Given the description of an element on the screen output the (x, y) to click on. 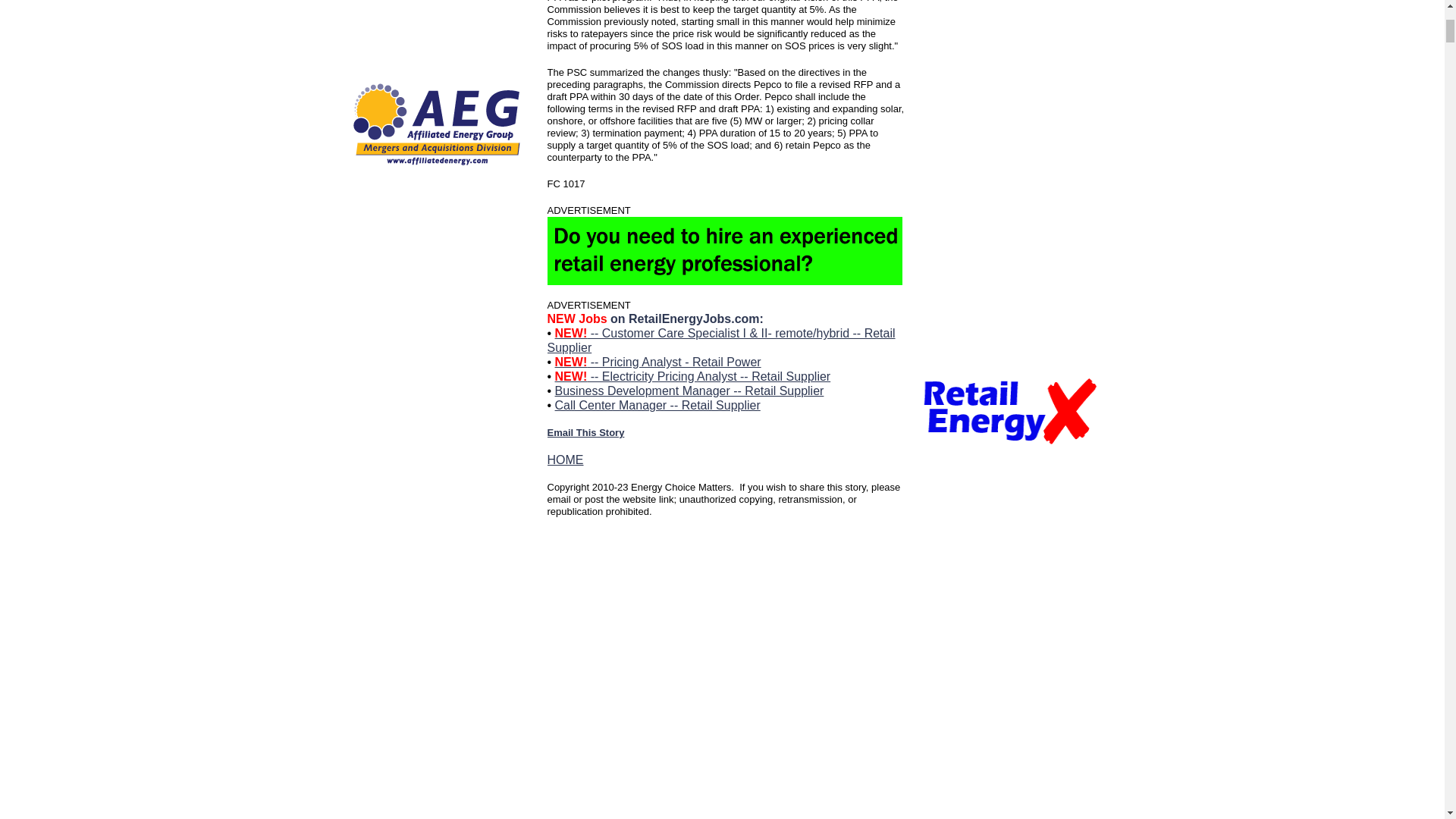
NEW! -- Electricity Pricing Analyst -- Retail Supplier (692, 376)
NEW! -- Pricing Analyst - Retail Power (657, 361)
NEW Jobs on RetailEnergyJobs.com: (654, 318)
Call Center Manager -- Retail Supplier (657, 404)
HOME (565, 459)
Business Development Manager -- Retail Supplier (689, 390)
Email This Story (585, 432)
